Given the description of an element on the screen output the (x, y) to click on. 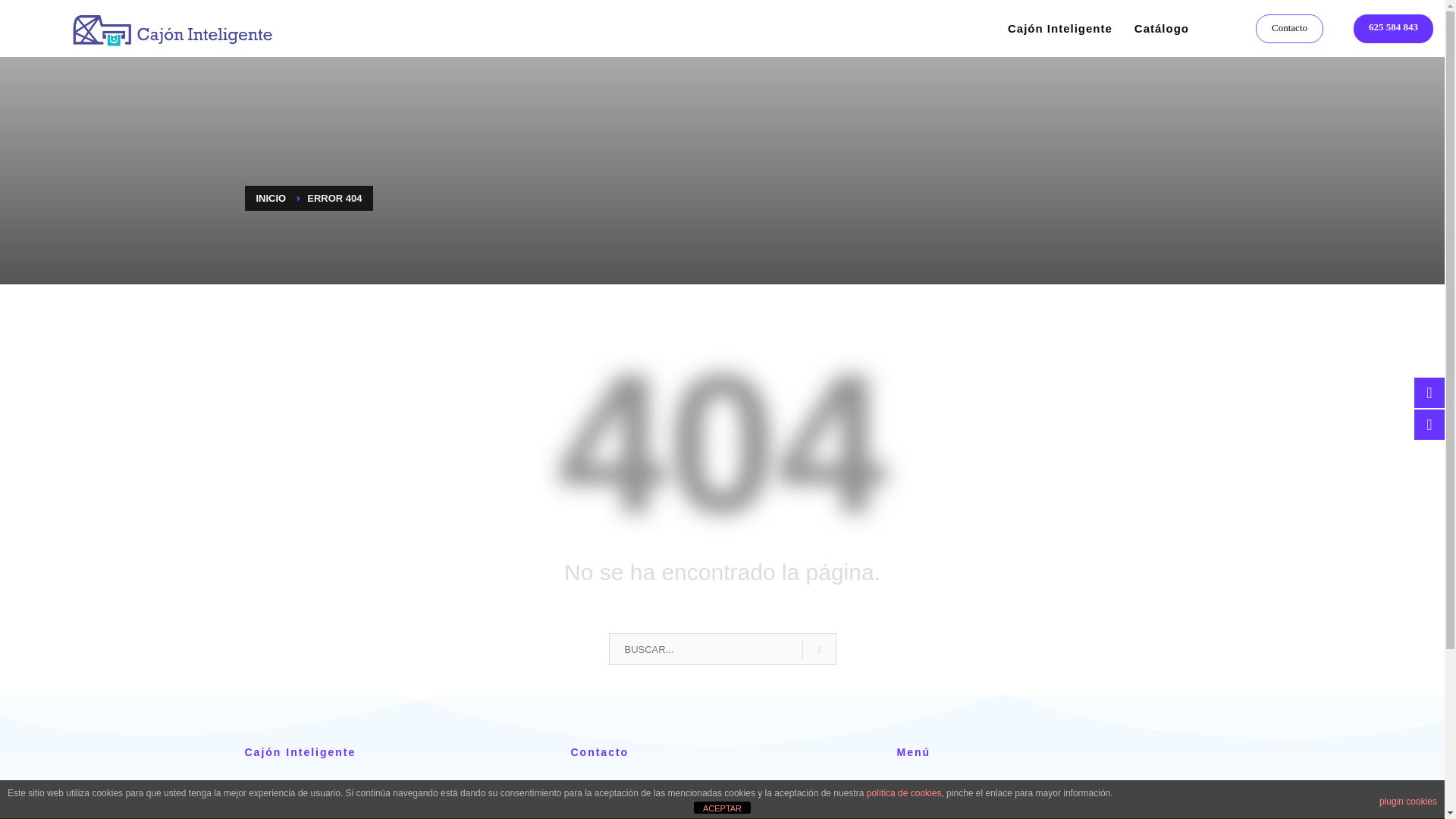
625 584 843 (1393, 27)
Soluciones para TPV (143, 27)
Contacto (1289, 27)
go (818, 649)
plugin cookies (1407, 801)
INICIO (271, 197)
ACEPTAR (722, 807)
